Given the description of an element on the screen output the (x, y) to click on. 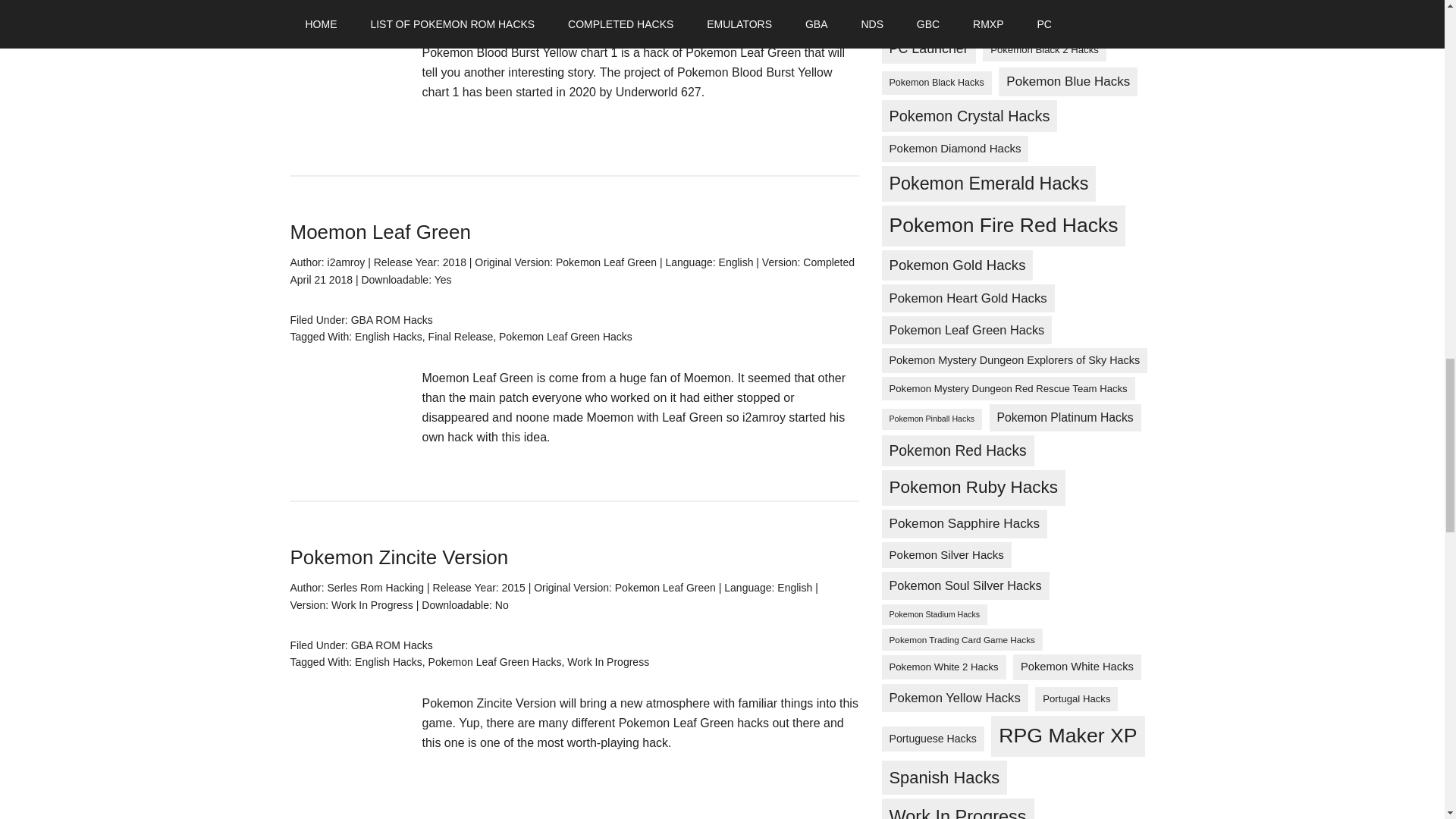
Pokemon Leaf Green Hacks (568, 10)
Chinese Hacks (460, 10)
Beta Release (387, 10)
